Given the description of an element on the screen output the (x, y) to click on. 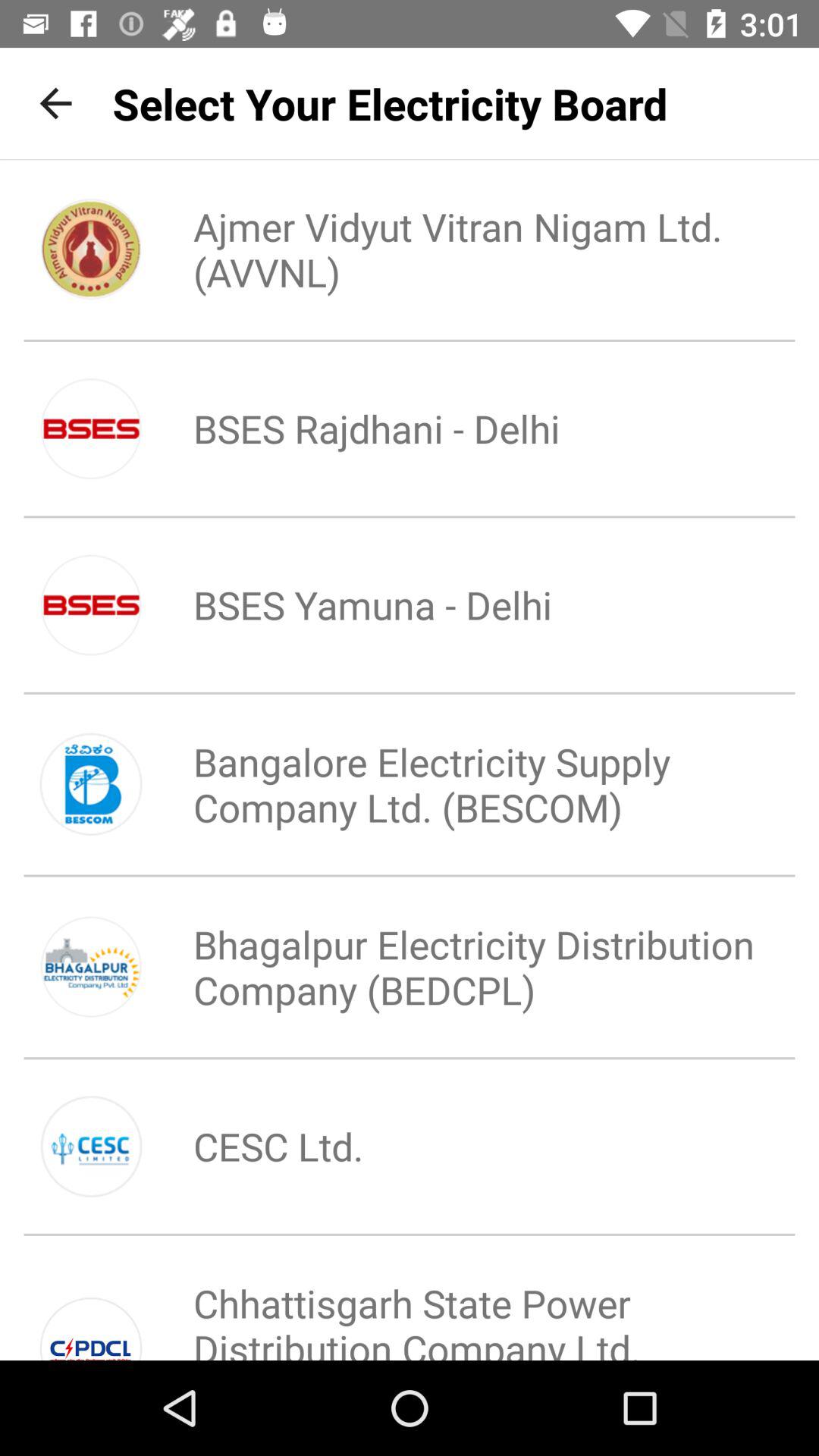
turn on the item above ajmer vidyut vitran (389, 103)
